Given the description of an element on the screen output the (x, y) to click on. 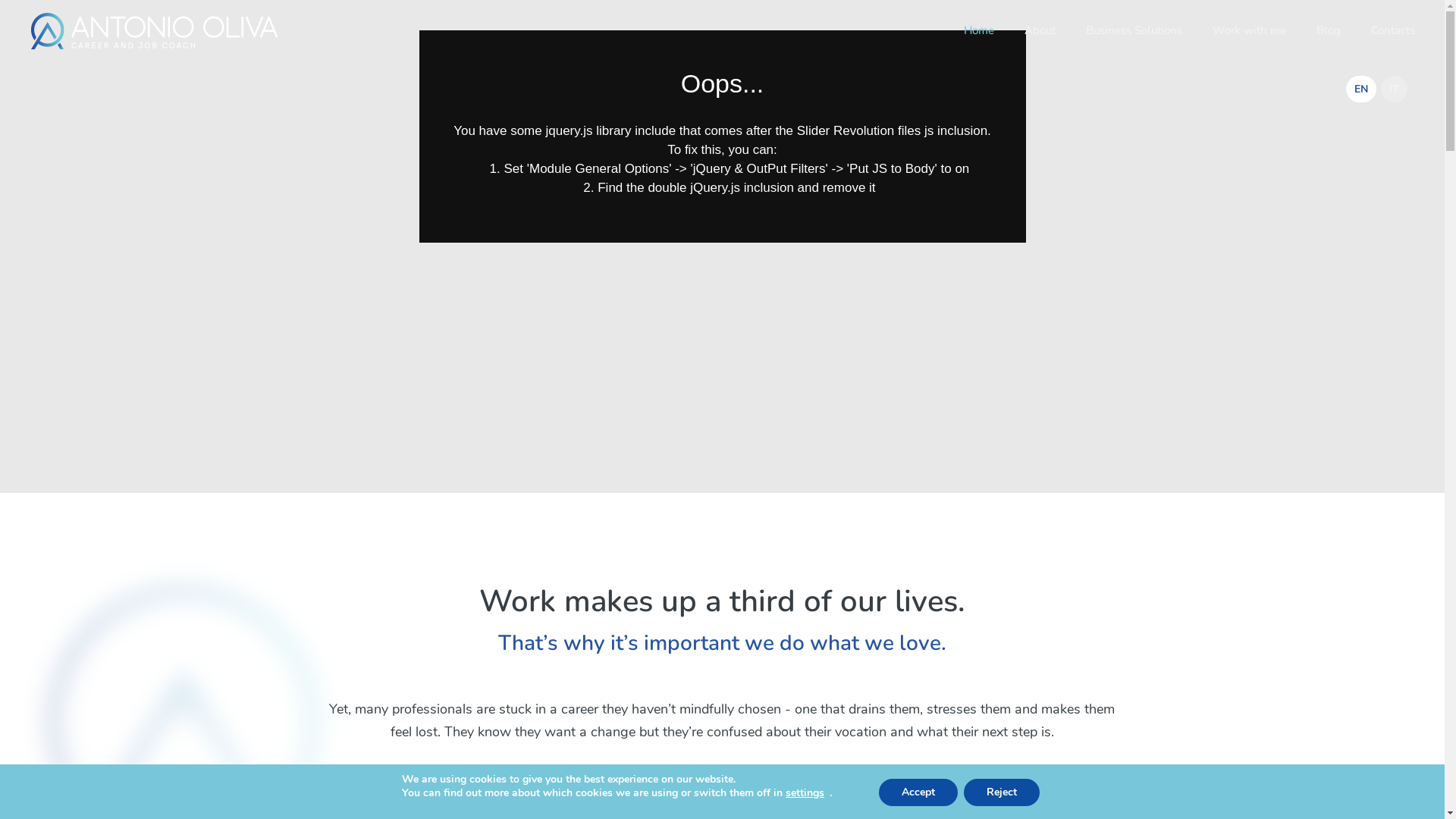
Work with me Element type: text (1249, 30)
Accept Element type: text (917, 791)
Antonio Oliva Element type: hover (154, 30)
Home Element type: text (978, 30)
About Element type: text (1039, 30)
Blog Element type: text (1328, 30)
settings Element type: text (804, 793)
Business Solutions Element type: text (1133, 30)
EN Element type: text (1361, 88)
IT Element type: text (1394, 88)
Reject Element type: text (1001, 791)
Contacts Element type: text (1392, 30)
